Given the description of an element on the screen output the (x, y) to click on. 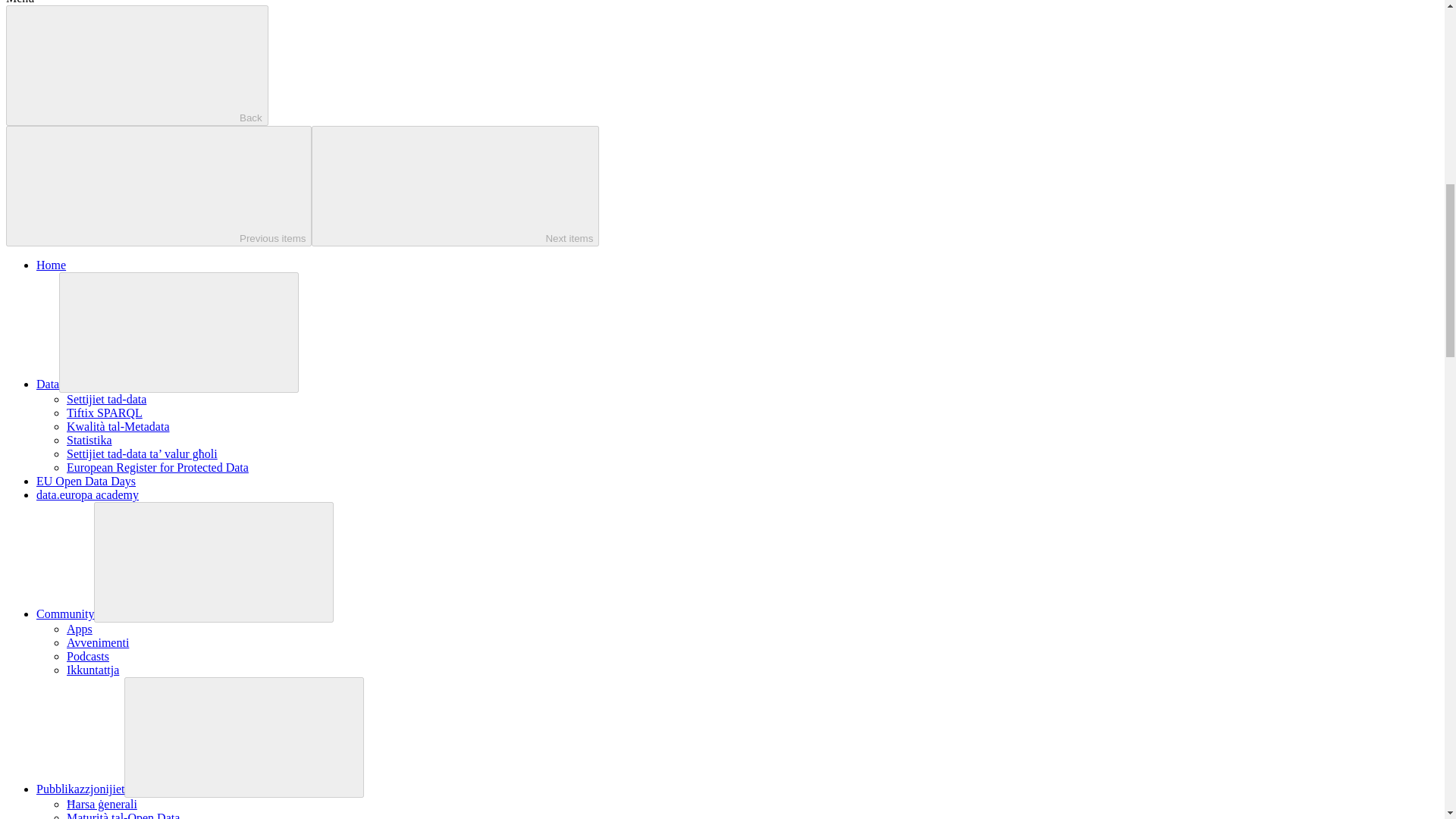
Apps (79, 628)
EU Open Data Days (85, 481)
European Register for Protected Data (157, 467)
Settijiet tad-data (106, 399)
Data (47, 383)
Statistika (89, 440)
data.europa academy (87, 494)
Pubblikazzjonijiet (79, 788)
Previous items (158, 186)
Ikkuntattja (92, 669)
